Given the description of an element on the screen output the (x, y) to click on. 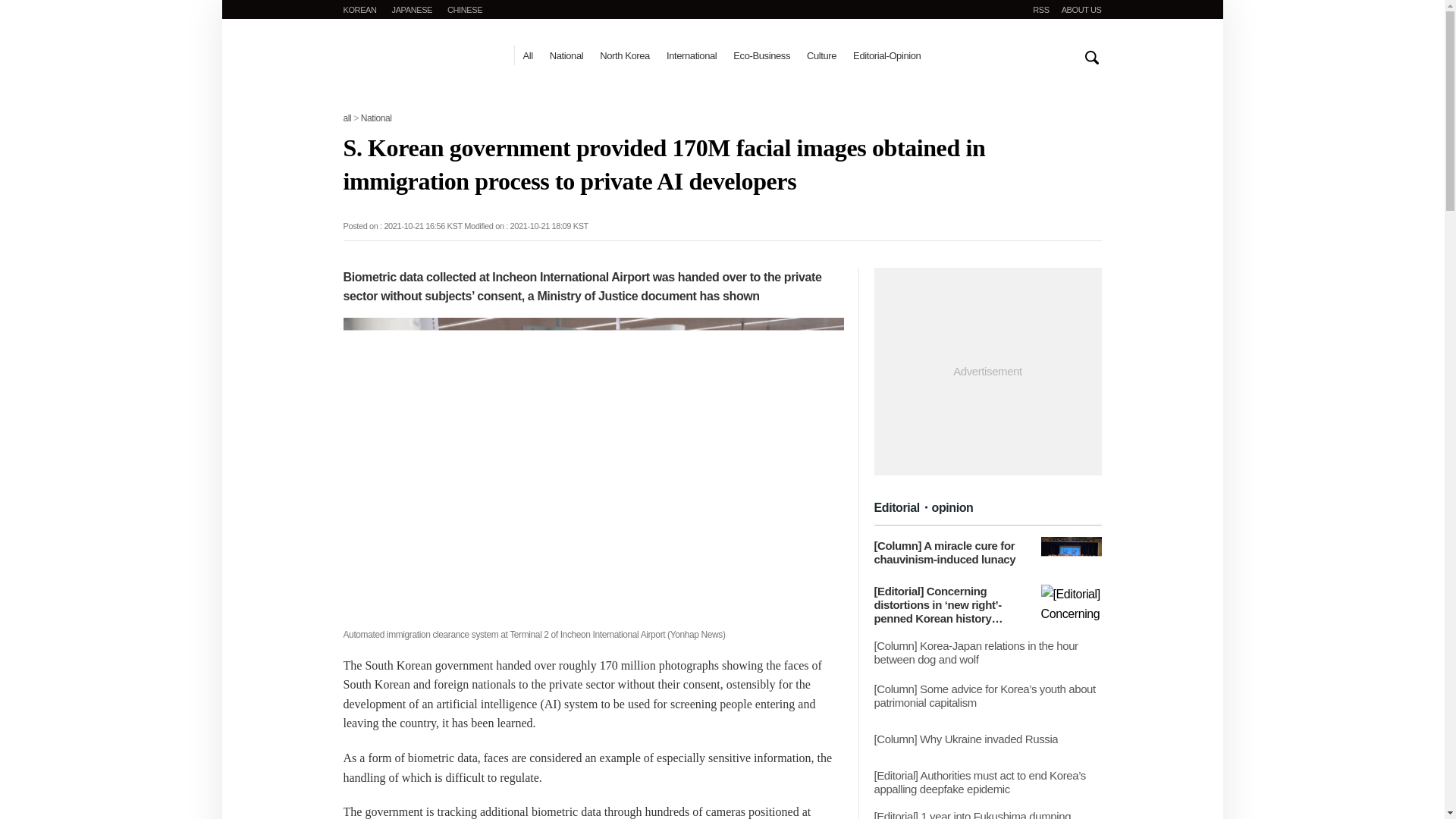
Eco-Business (761, 55)
National (376, 118)
Culture (820, 55)
North Korea (624, 55)
JAPANESE (411, 9)
CHINESE (463, 9)
ABOUT US (1081, 9)
hankyoreh (419, 60)
KOREAN (358, 9)
Editorial-Opinion (886, 55)
